Given the description of an element on the screen output the (x, y) to click on. 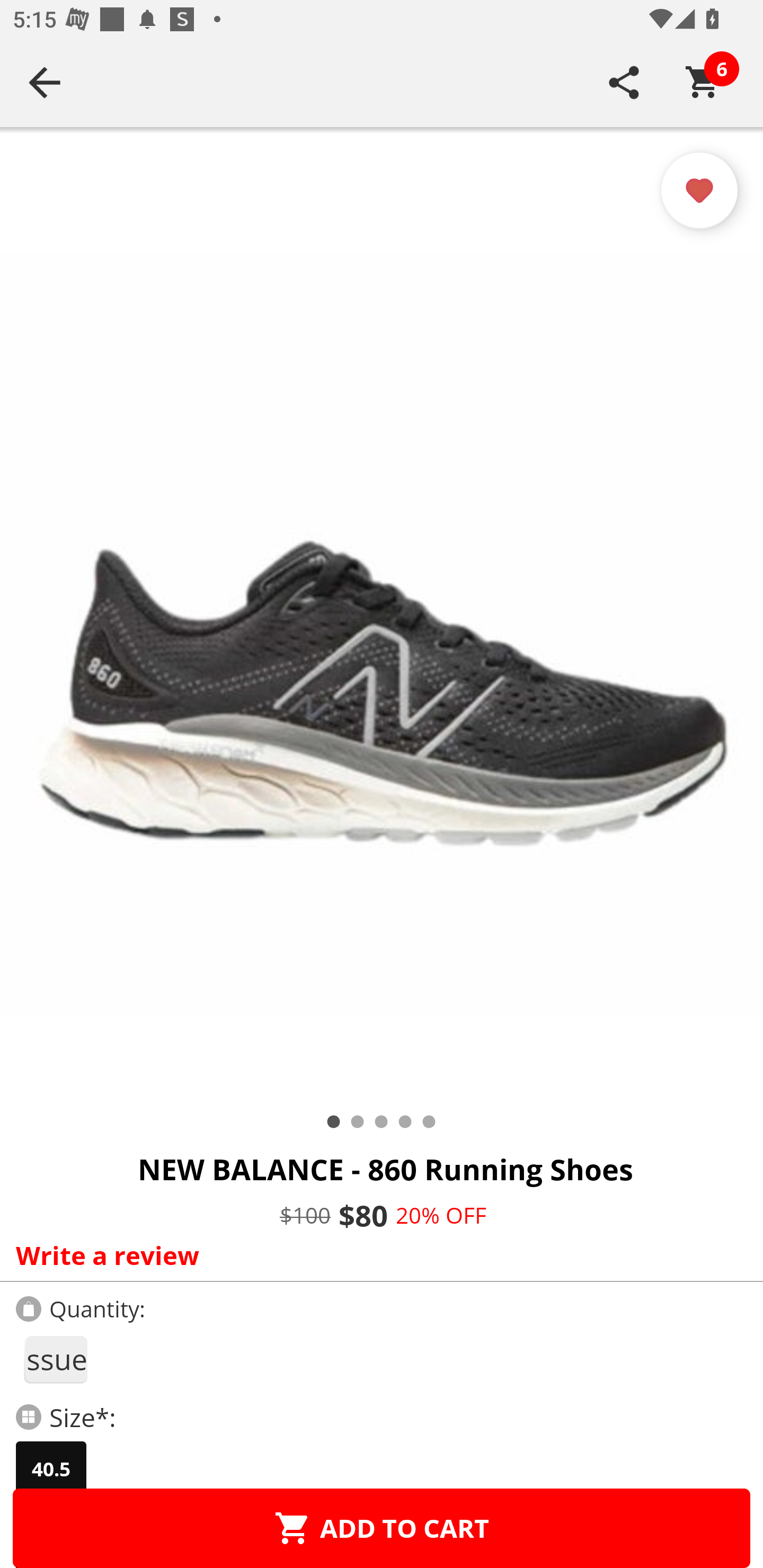
Navigate up (44, 82)
SHARE (623, 82)
Cart (703, 81)
Write a review (377, 1255)
1tissue (55, 1358)
40.5 (51, 1468)
ADD TO CART (381, 1528)
